Given the description of an element on the screen output the (x, y) to click on. 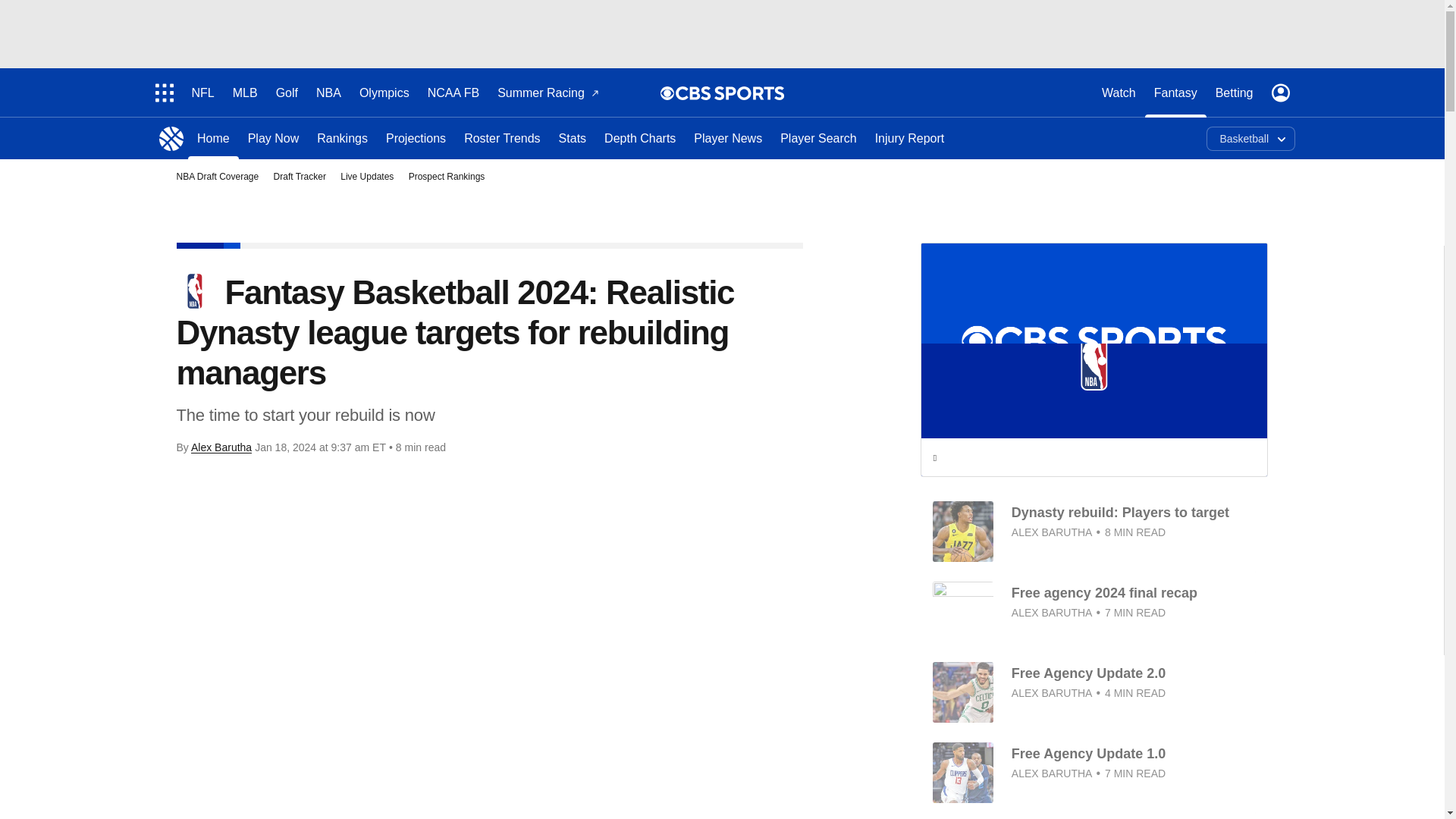
CBS Logo (729, 92)
SportsBasketball (170, 137)
CBS Eye (667, 92)
